Given the description of an element on the screen output the (x, y) to click on. 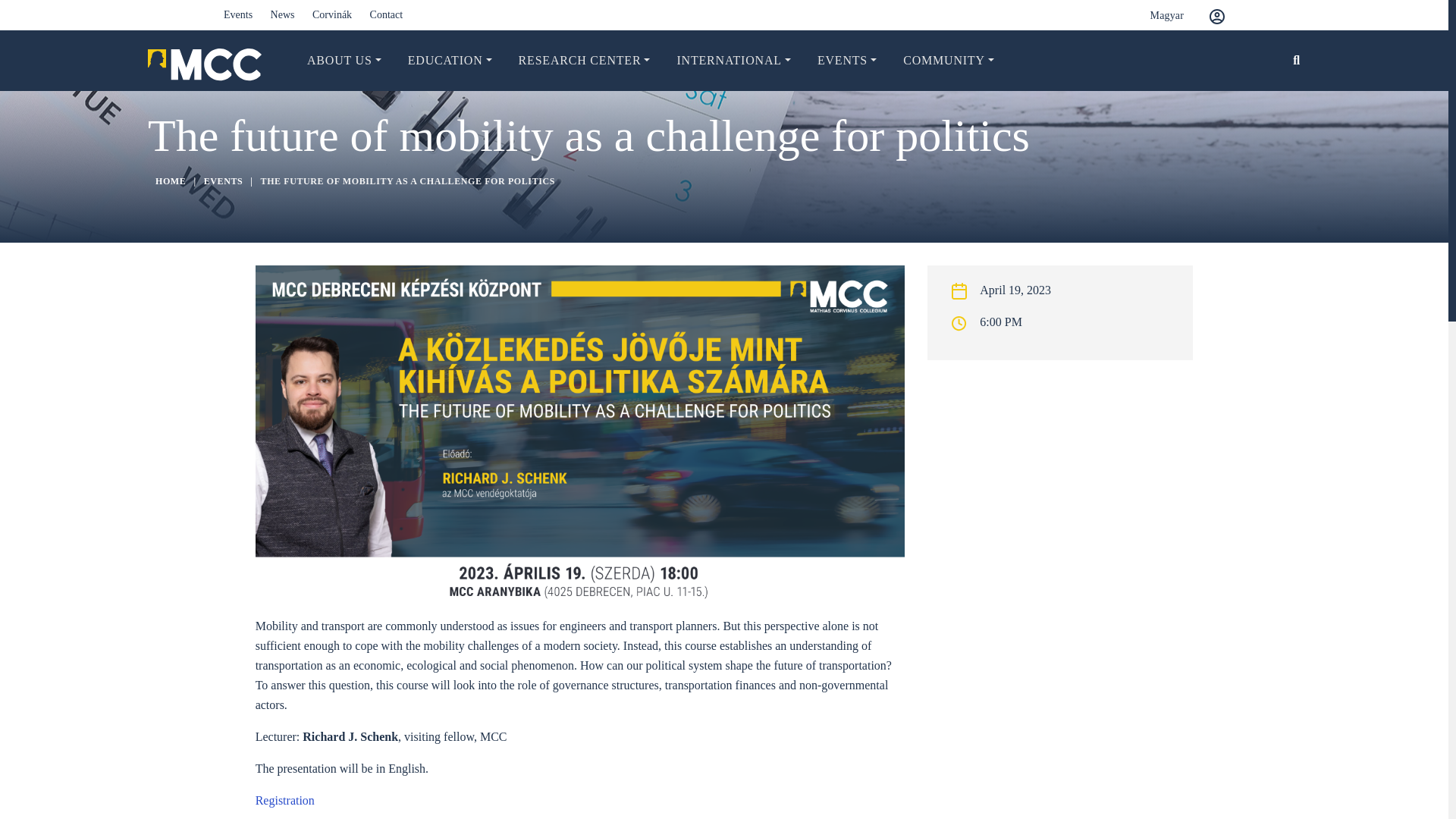
News (282, 14)
Magyar (1154, 15)
Contact (386, 14)
Events (237, 14)
